Given the description of an element on the screen output the (x, y) to click on. 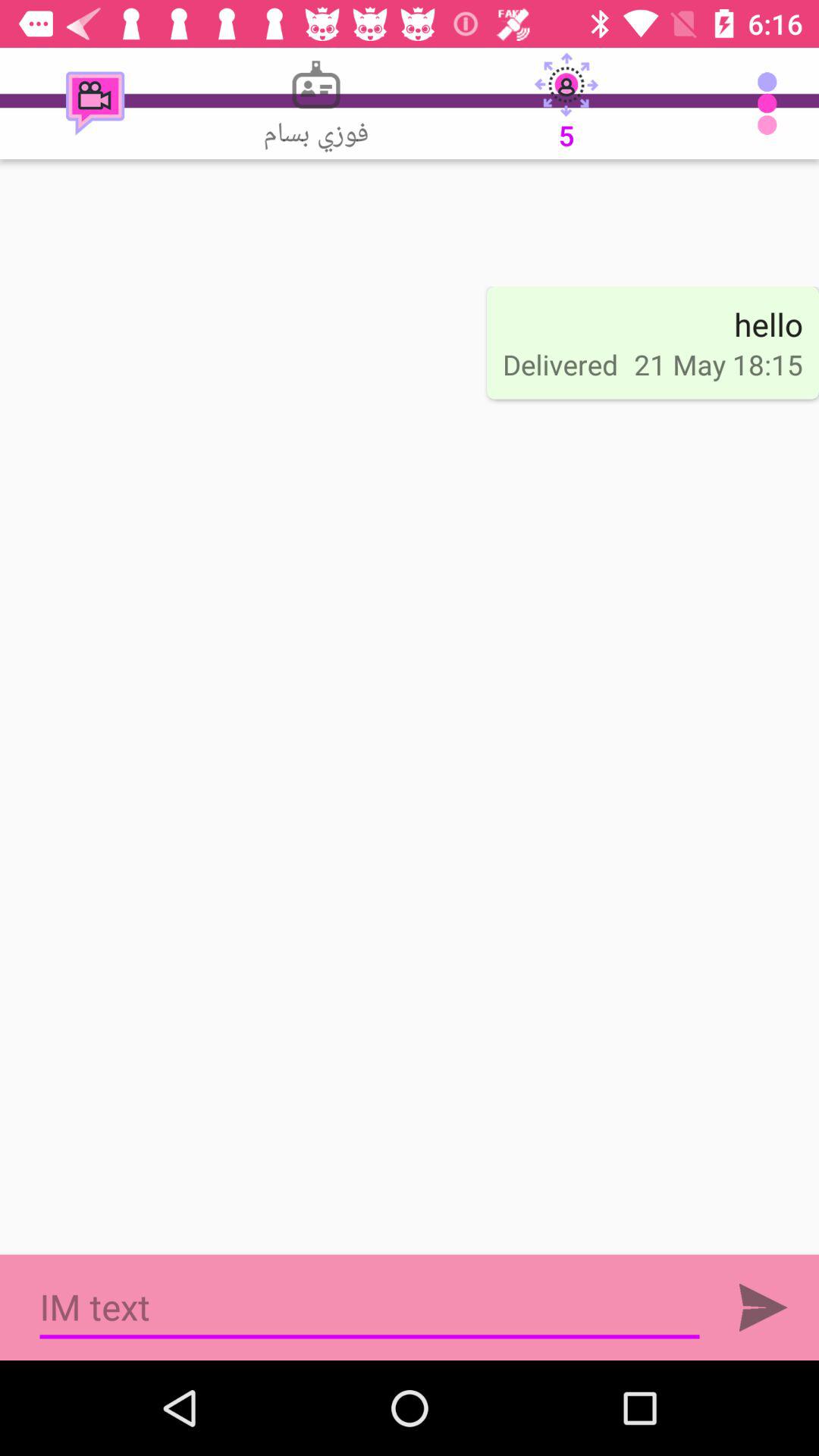
choose icon below the hello (718, 364)
